Given the description of an element on the screen output the (x, y) to click on. 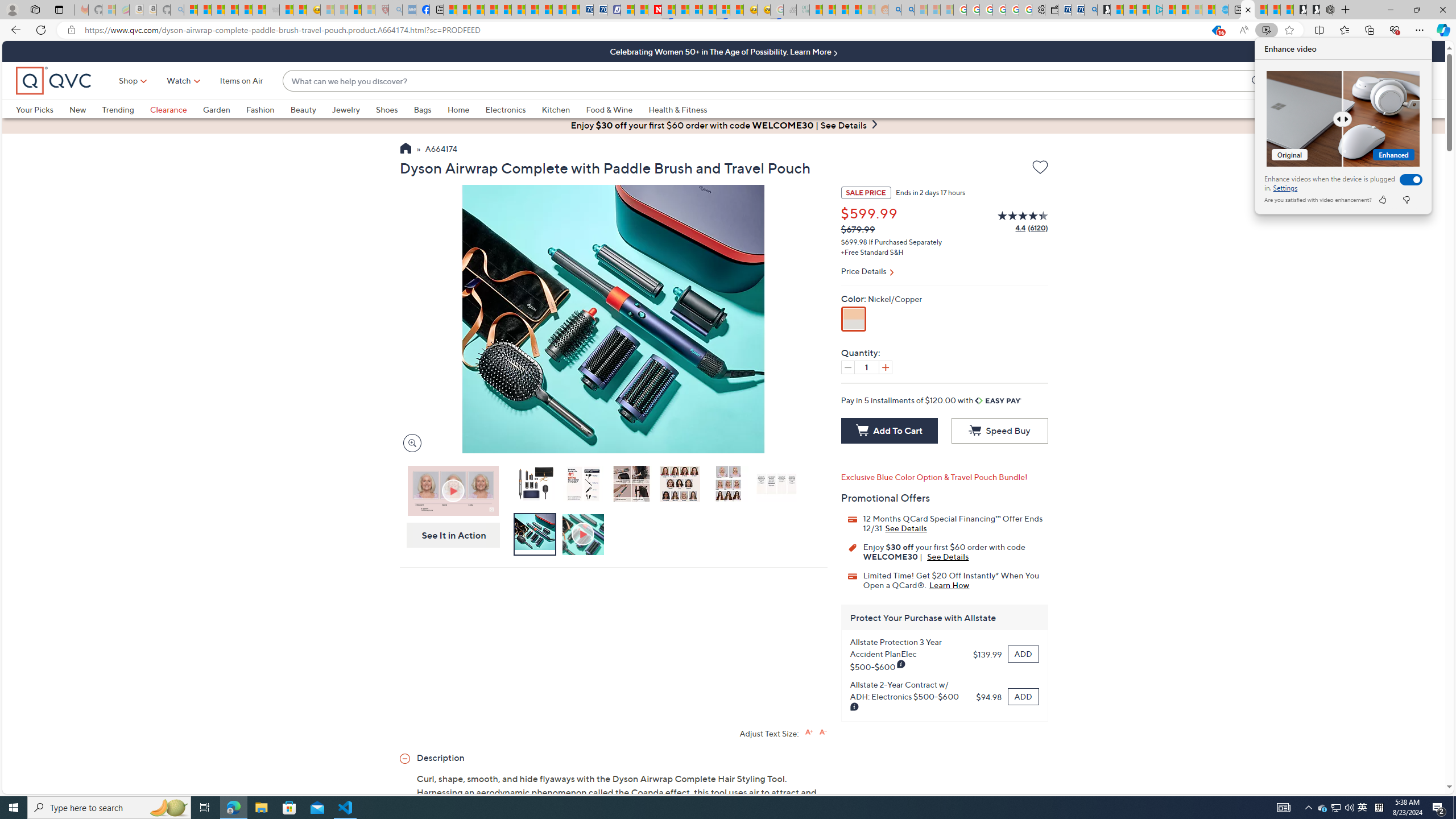
New (84, 109)
Type here to search (108, 807)
You have the best price! (1216, 29)
Zoom product image, opens image gallery dialog (408, 442)
Food & Wine (609, 109)
Visual Studio Code - 1 running window (345, 807)
